Given the description of an element on the screen output the (x, y) to click on. 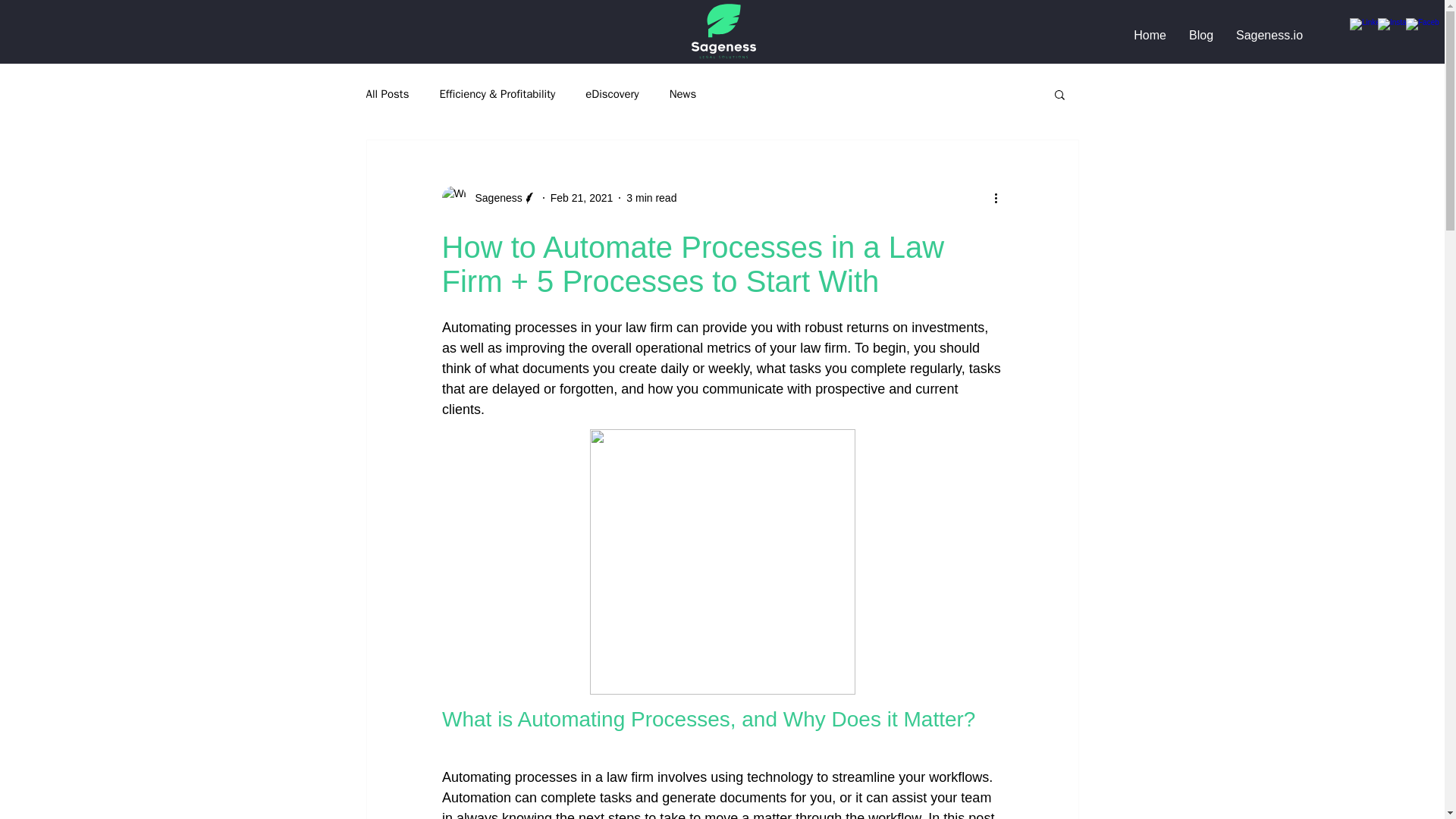
All Posts (387, 93)
eDiscovery (612, 93)
3 min read (651, 196)
Sageness.io (1269, 35)
Feb 21, 2021 (581, 196)
News (683, 93)
Sageness (493, 197)
Blog (1200, 35)
Home (1149, 35)
